Given the description of an element on the screen output the (x, y) to click on. 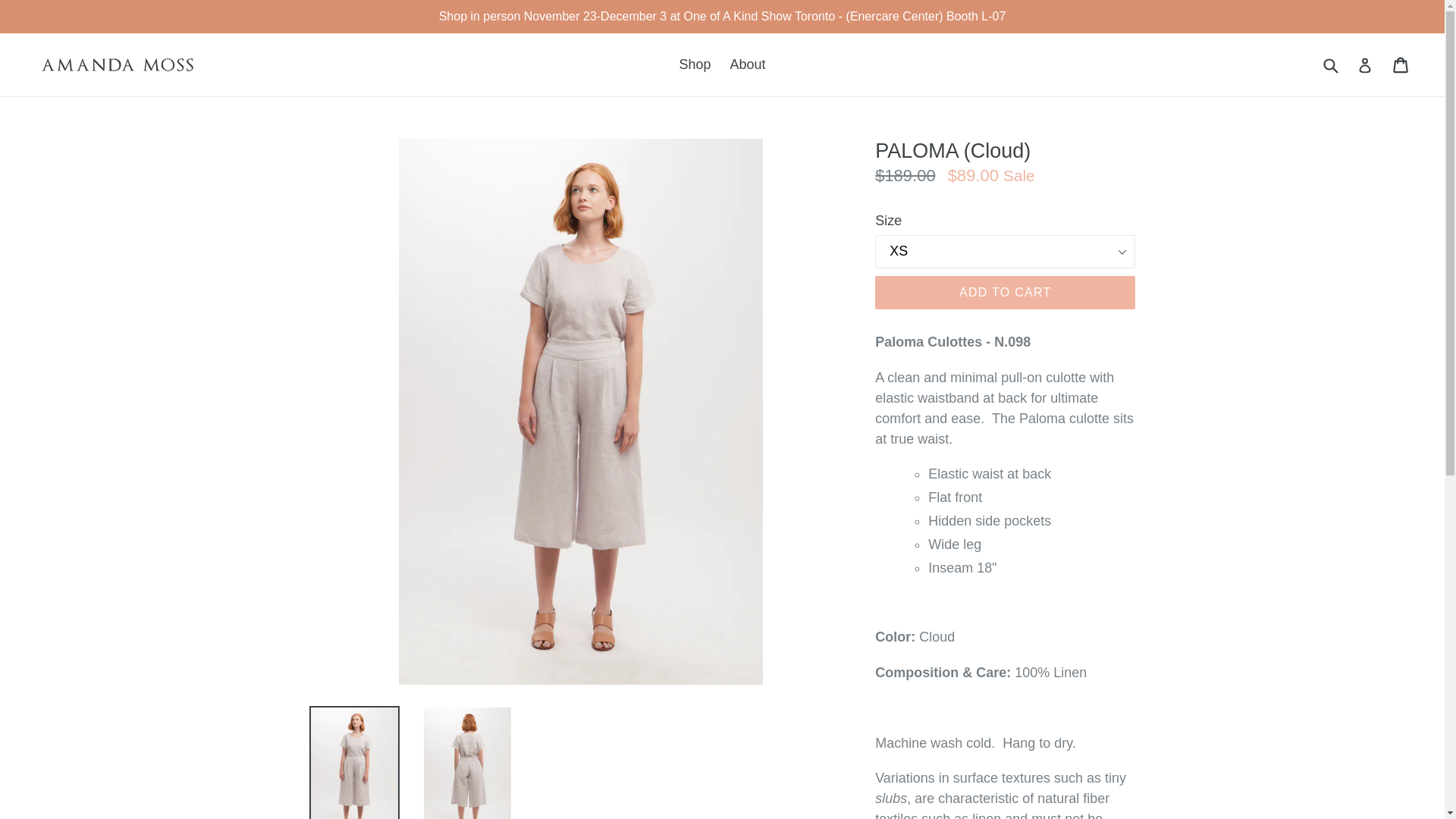
Log in Element type: text (1364, 64)
Submit Element type: text (1329, 64)
Shop Element type: text (694, 64)
Cart
Cart Element type: text (1401, 64)
About Element type: text (746, 64)
ADD TO CART Element type: text (1005, 292)
